Given the description of an element on the screen output the (x, y) to click on. 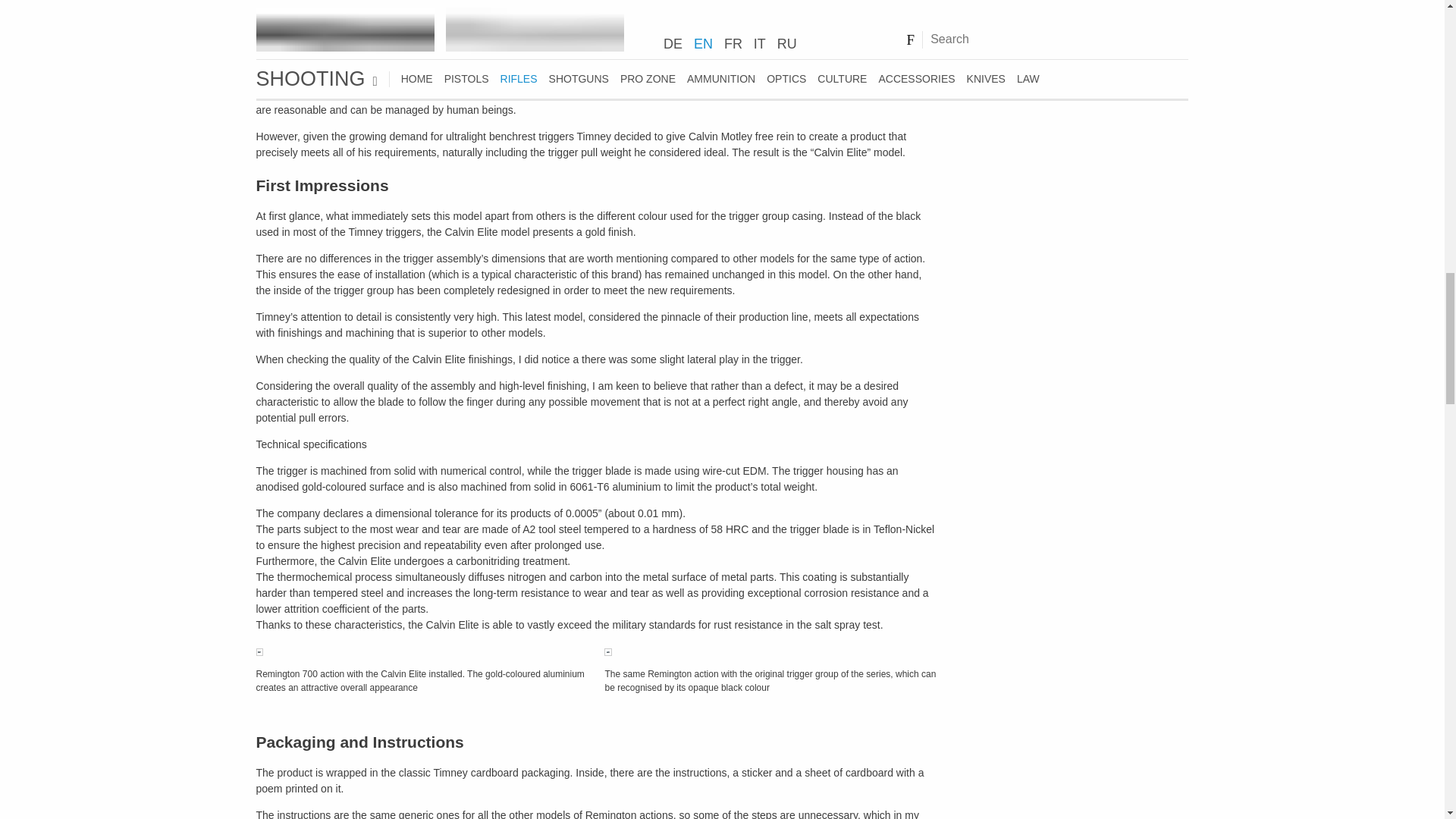
Timney Calvin Elite Trigger (259, 652)
Timney Calvin Elite Trigger (607, 652)
